Given the description of an element on the screen output the (x, y) to click on. 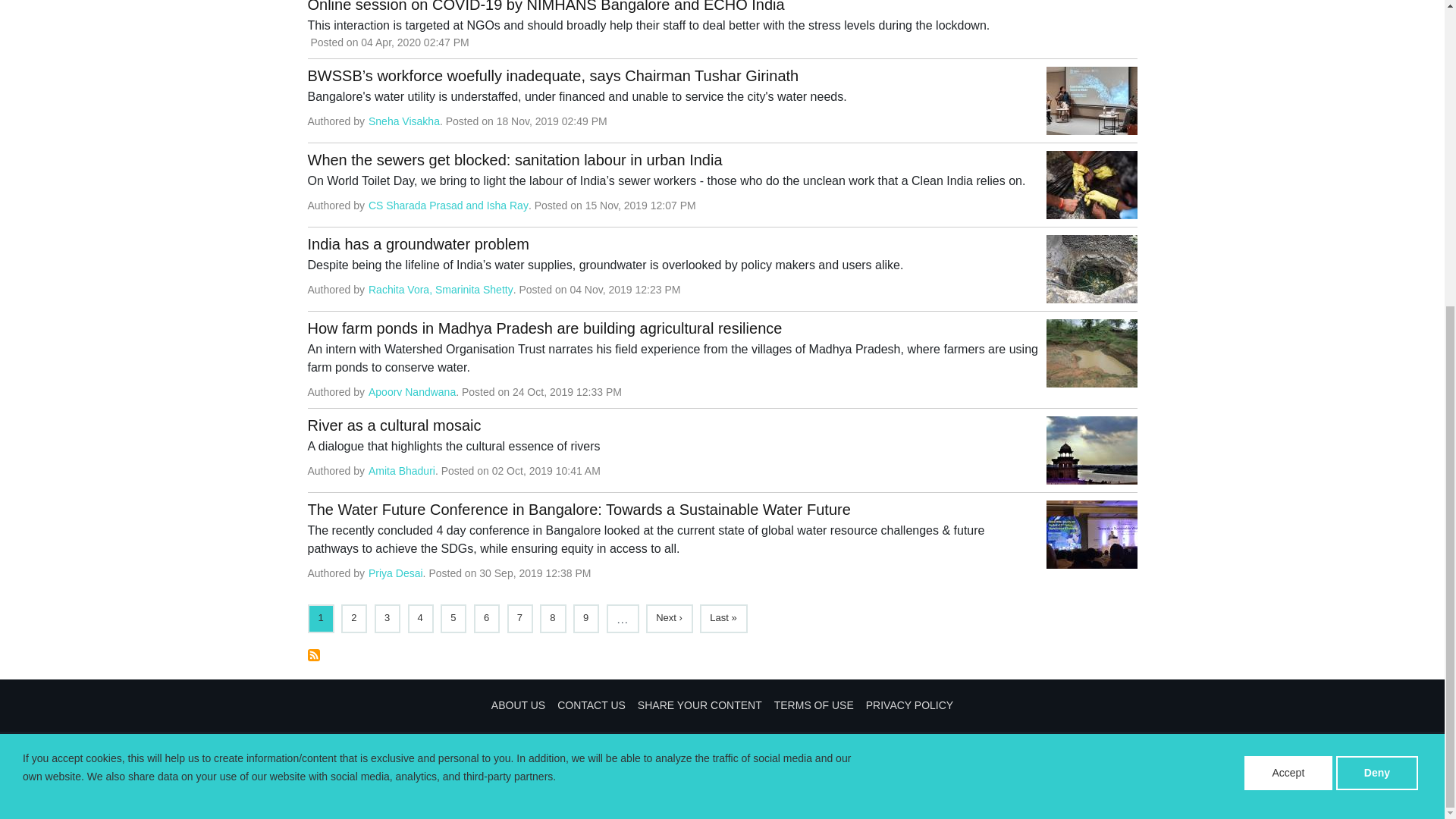
Go to page 4 (420, 617)
Go to page 2 (353, 617)
Go to page 7 (519, 617)
Current page (320, 617)
Go to page 9 (584, 617)
Go to page 8 (552, 617)
Go to page 5 (452, 617)
Go to next page (668, 617)
Go to page 6 (485, 617)
Go to page 3 (386, 617)
